Given the description of an element on the screen output the (x, y) to click on. 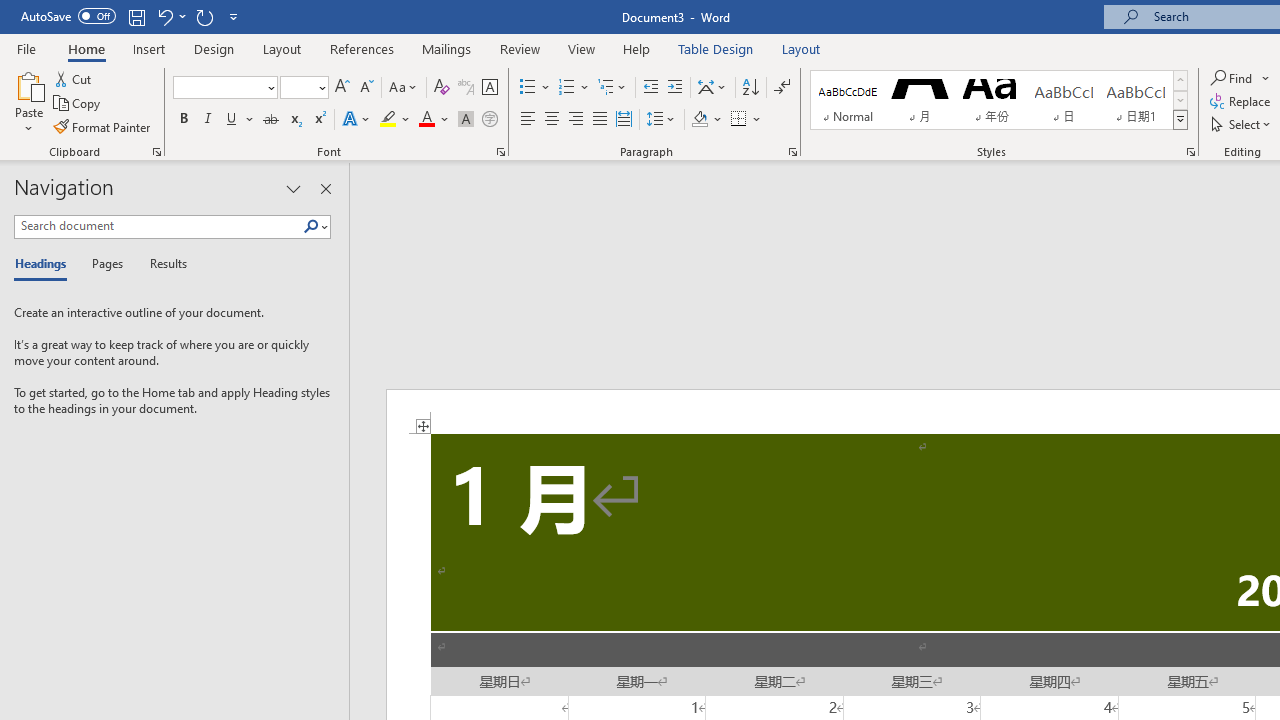
Center (552, 119)
Bold (183, 119)
Show/Hide Editing Marks (781, 87)
Styles (1179, 120)
AutoSave (68, 16)
Phonetic Guide... (465, 87)
Text Highlight Color (395, 119)
Align Right (575, 119)
Font Color RGB(255, 0, 0) (426, 119)
